Given the description of an element on the screen output the (x, y) to click on. 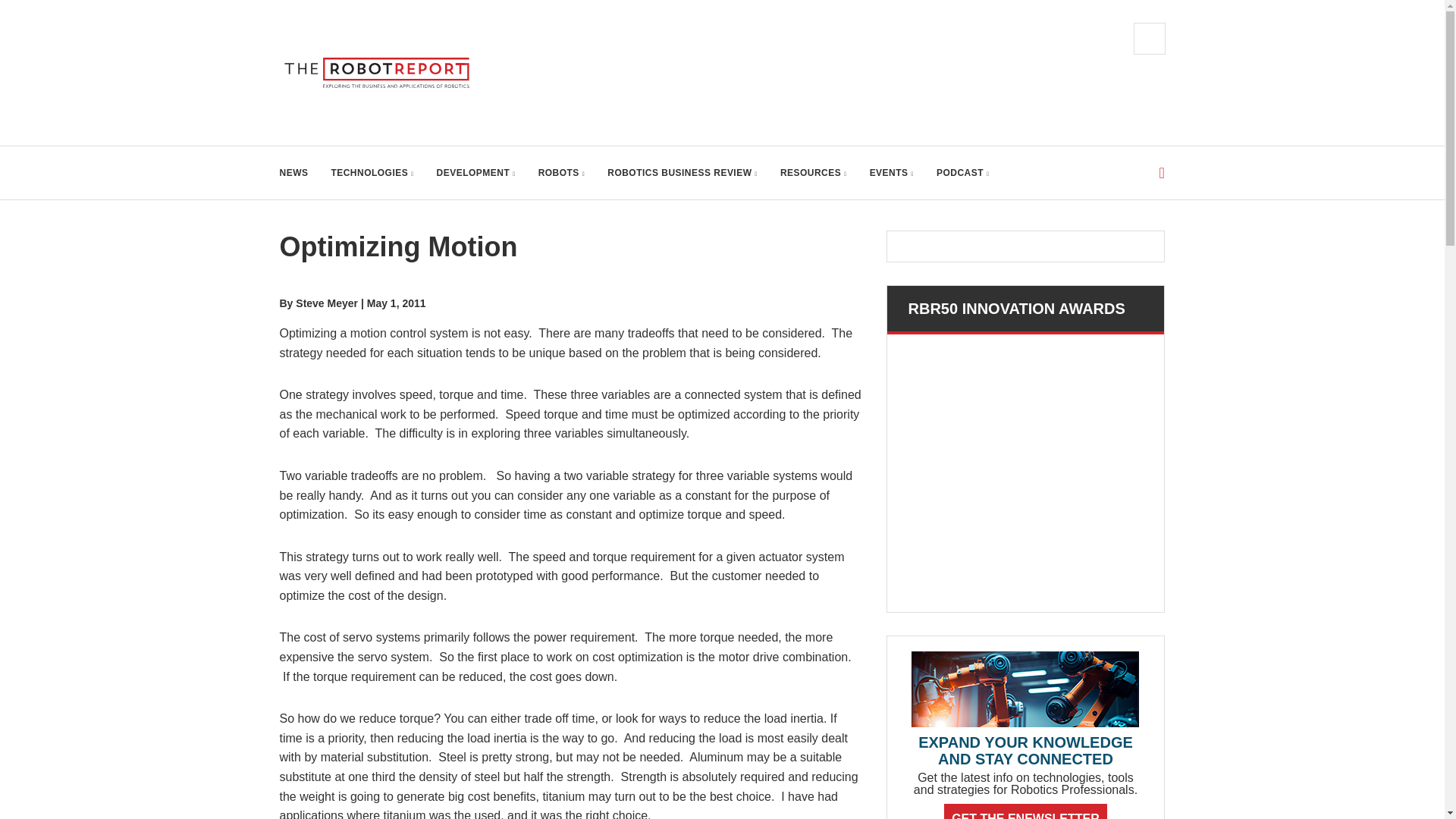
The Robot Report (380, 72)
TECHNOLOGIES (371, 172)
ROBOTICS BUSINESS REVIEW (682, 172)
DEVELOPMENT (475, 172)
